Given the description of an element on the screen output the (x, y) to click on. 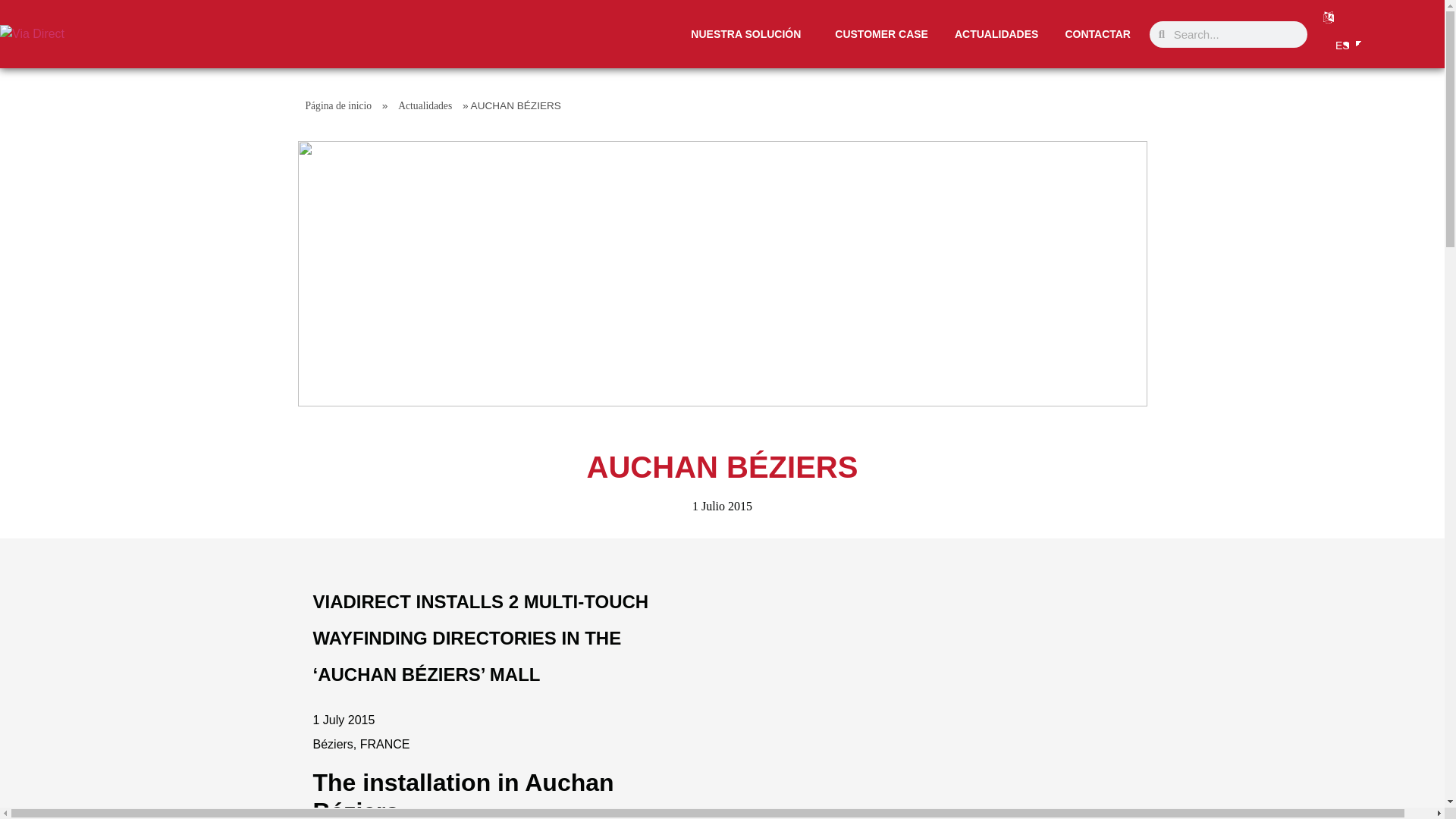
CONTACTAR (1096, 33)
1 Julio 2015 (722, 506)
ACTUALIDADES (996, 33)
Actualidades (425, 105)
CUSTOMER CASE (881, 33)
